Given the description of an element on the screen output the (x, y) to click on. 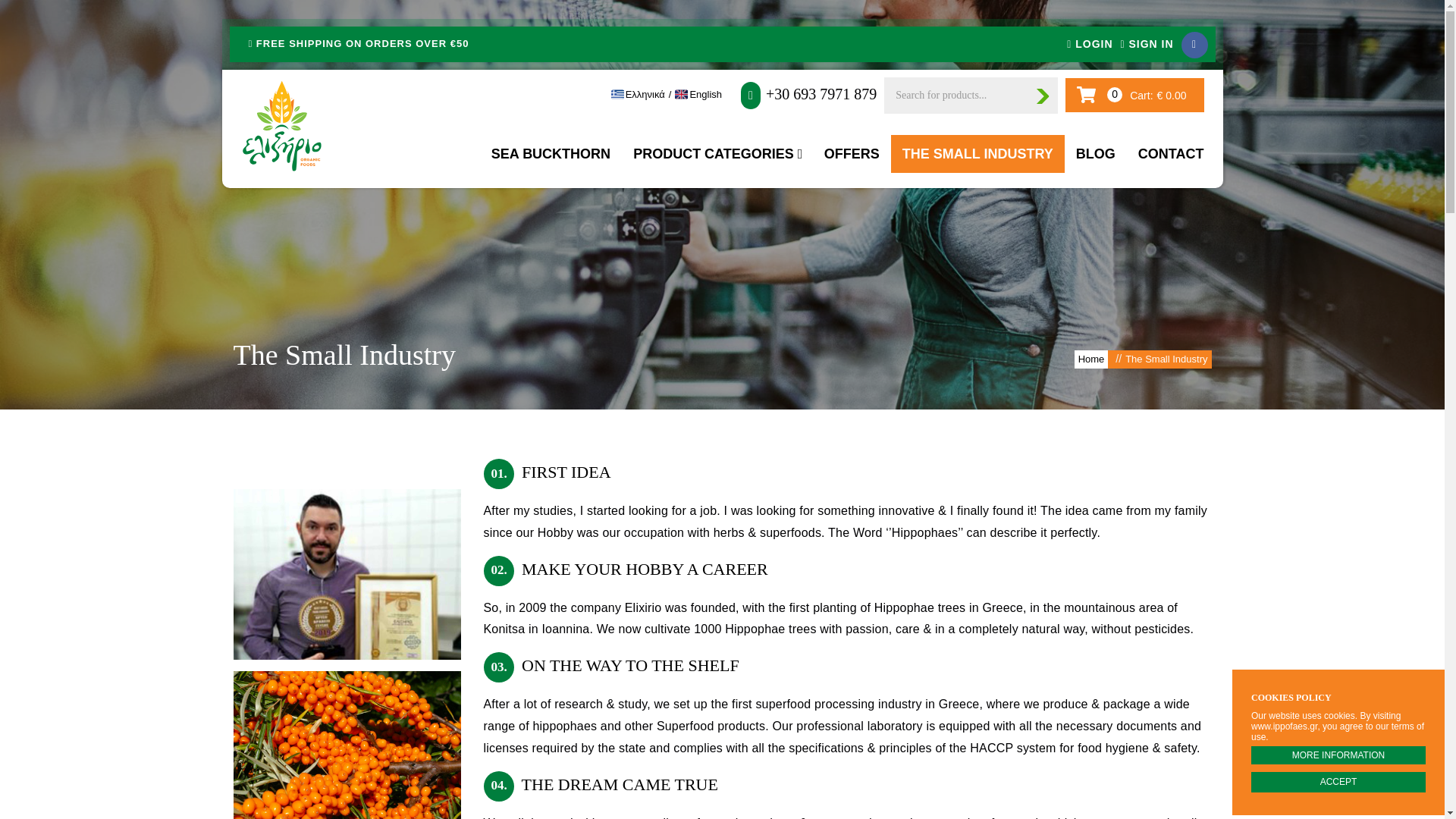
SIGN IN (1146, 43)
PRODUCT CATEGORIES (716, 153)
MORE INFORMATION (1337, 755)
English (705, 93)
ACCEPT (1337, 782)
English (705, 93)
PRODUCT CATEGORIES (716, 153)
LOGIN (1089, 43)
Join us on Facebook (1194, 44)
SEA BUCKTHORN (550, 153)
